Given the description of an element on the screen output the (x, y) to click on. 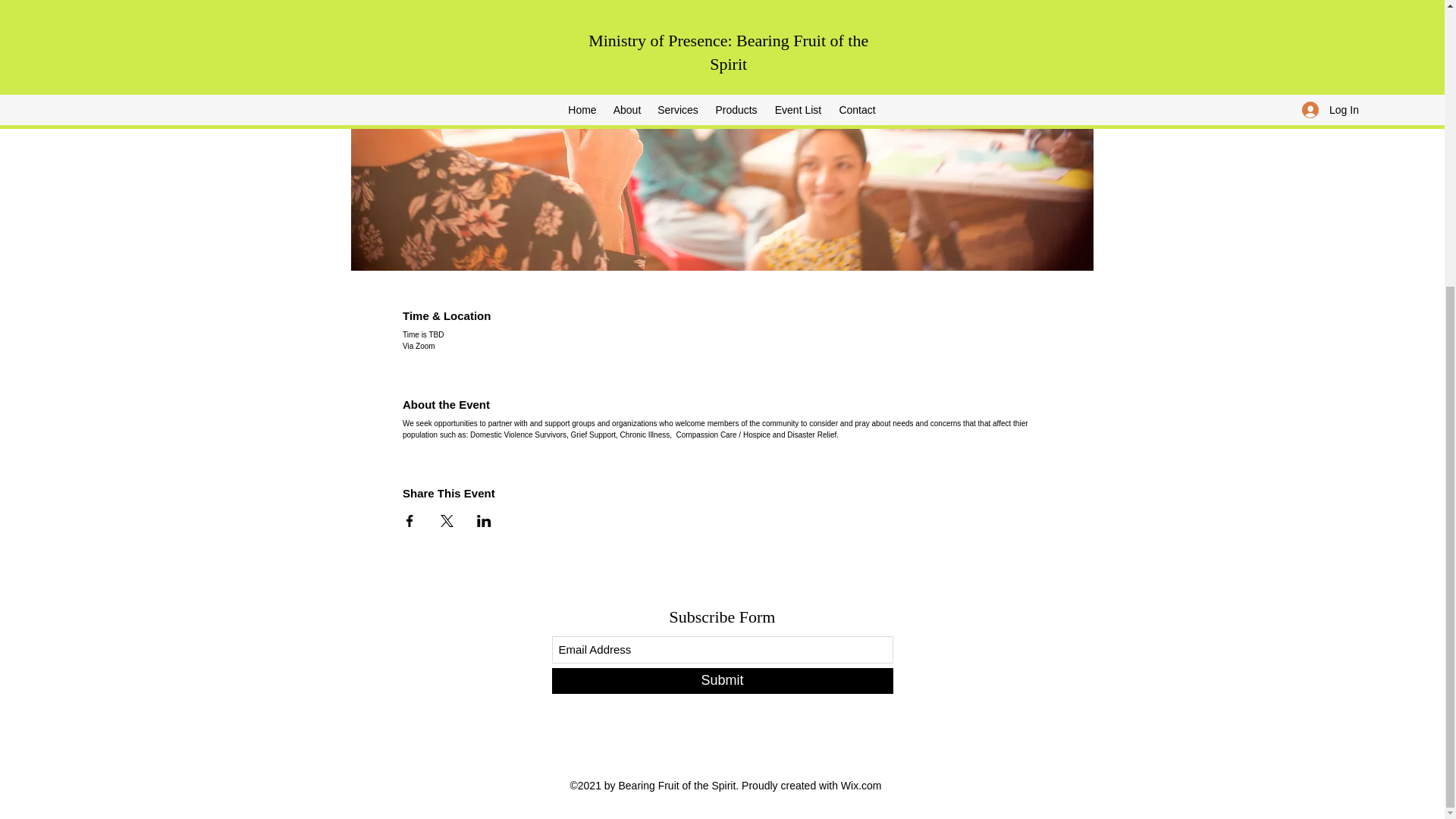
Submit (722, 680)
